Given the description of an element on the screen output the (x, y) to click on. 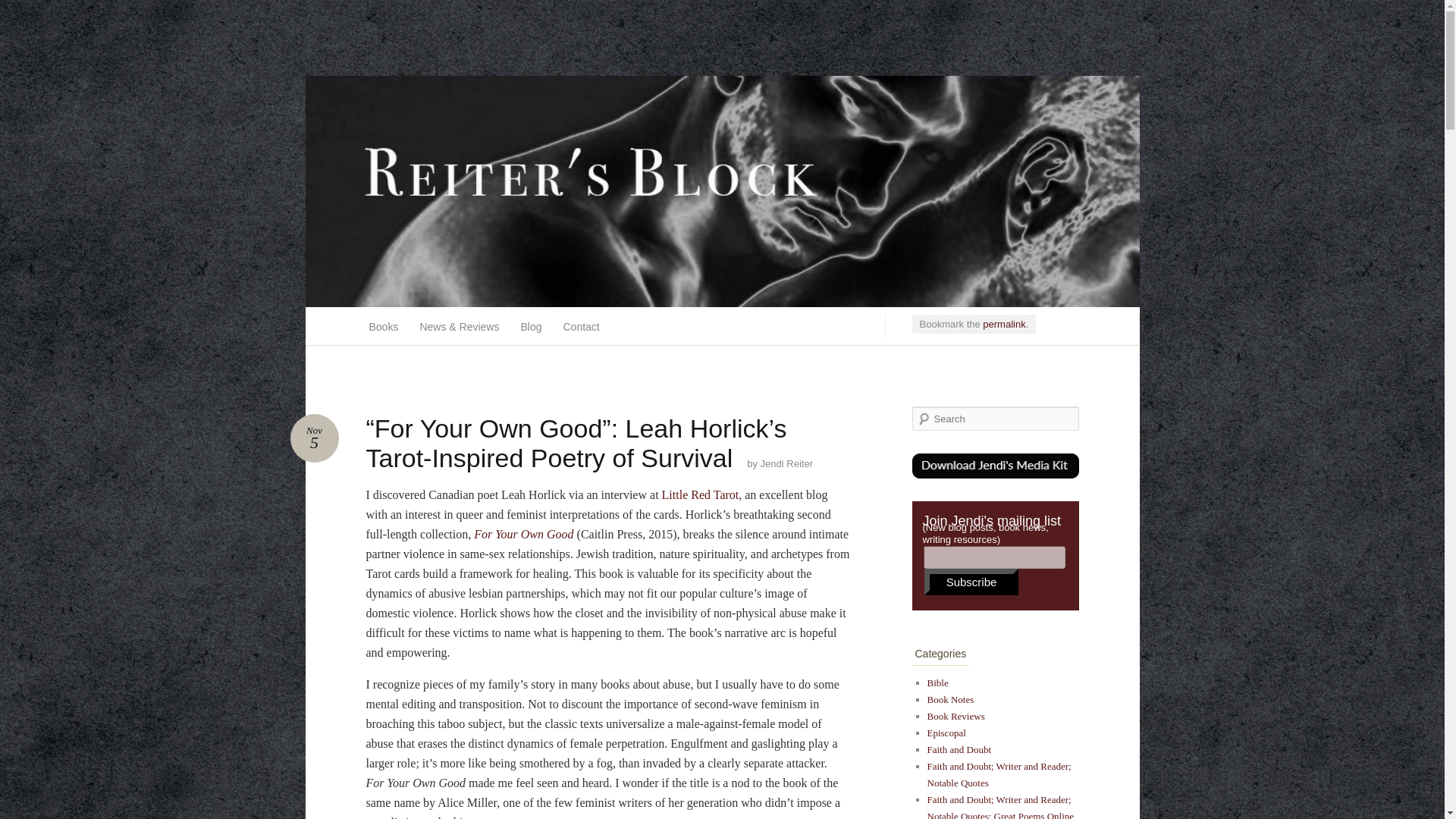
Contact (580, 326)
Bible (936, 682)
Books (383, 326)
For Your Own Good (523, 533)
Jendi Reiter (786, 463)
Subscribe (971, 581)
View all posts by Jendi Reiter (786, 463)
Book Reviews (955, 715)
Little Red Tarot (700, 494)
November 5 2015 (313, 438)
